Given the description of an element on the screen output the (x, y) to click on. 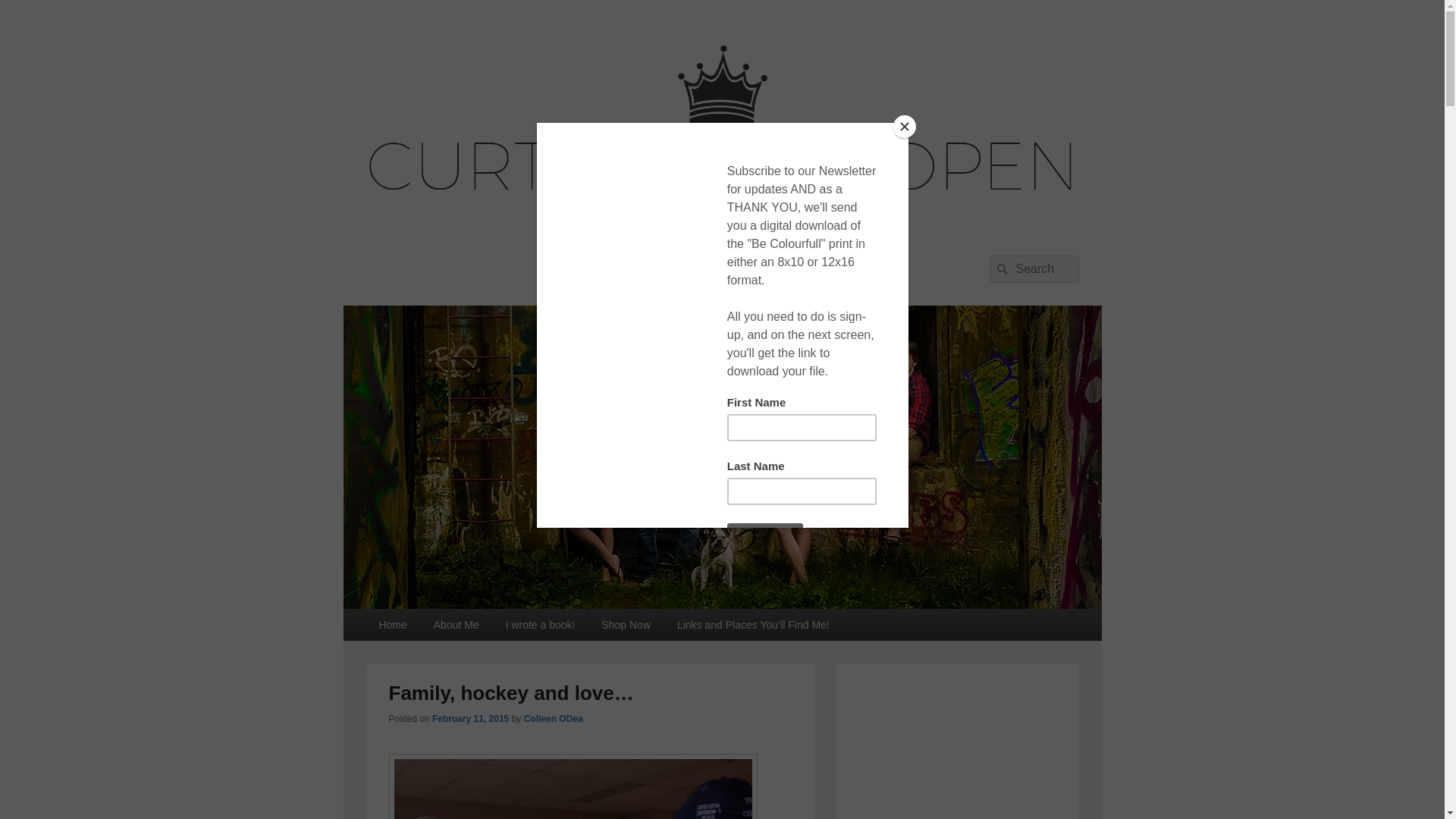
Search for: (1033, 268)
Home (392, 624)
Curtains are Open (483, 272)
About Me (456, 624)
I wrote a book! (540, 624)
February 11, 2015 (470, 718)
Shop Now (625, 624)
5:36 pm (470, 718)
Curtains are Open (721, 604)
Advertisement (956, 744)
Colleen ODea (553, 718)
View all posts by Colleen ODea (553, 718)
